Given the description of an element on the screen output the (x, y) to click on. 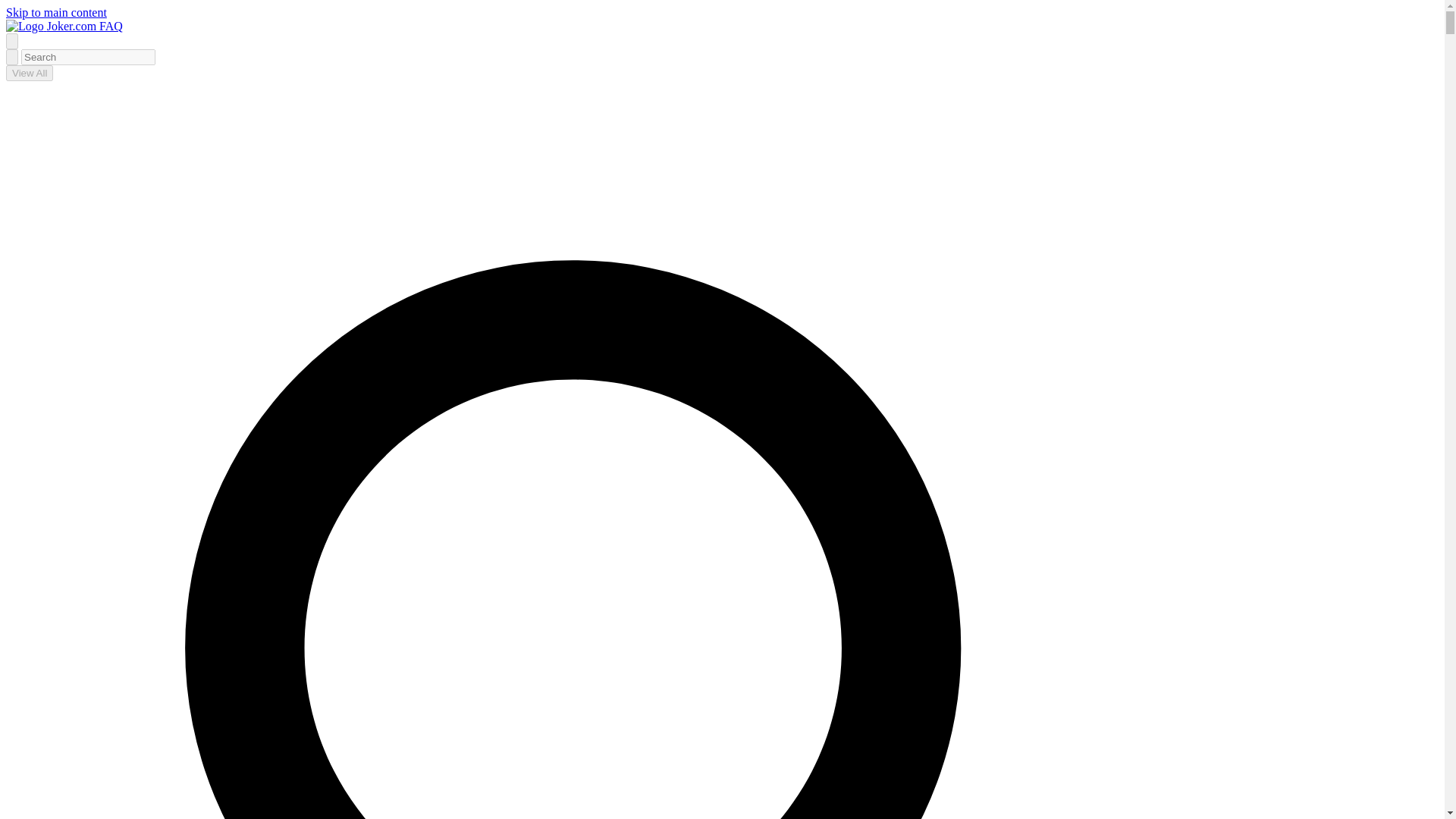
Joker.com FAQ (63, 25)
View All (28, 73)
Skip to main content (55, 11)
